Given the description of an element on the screen output the (x, y) to click on. 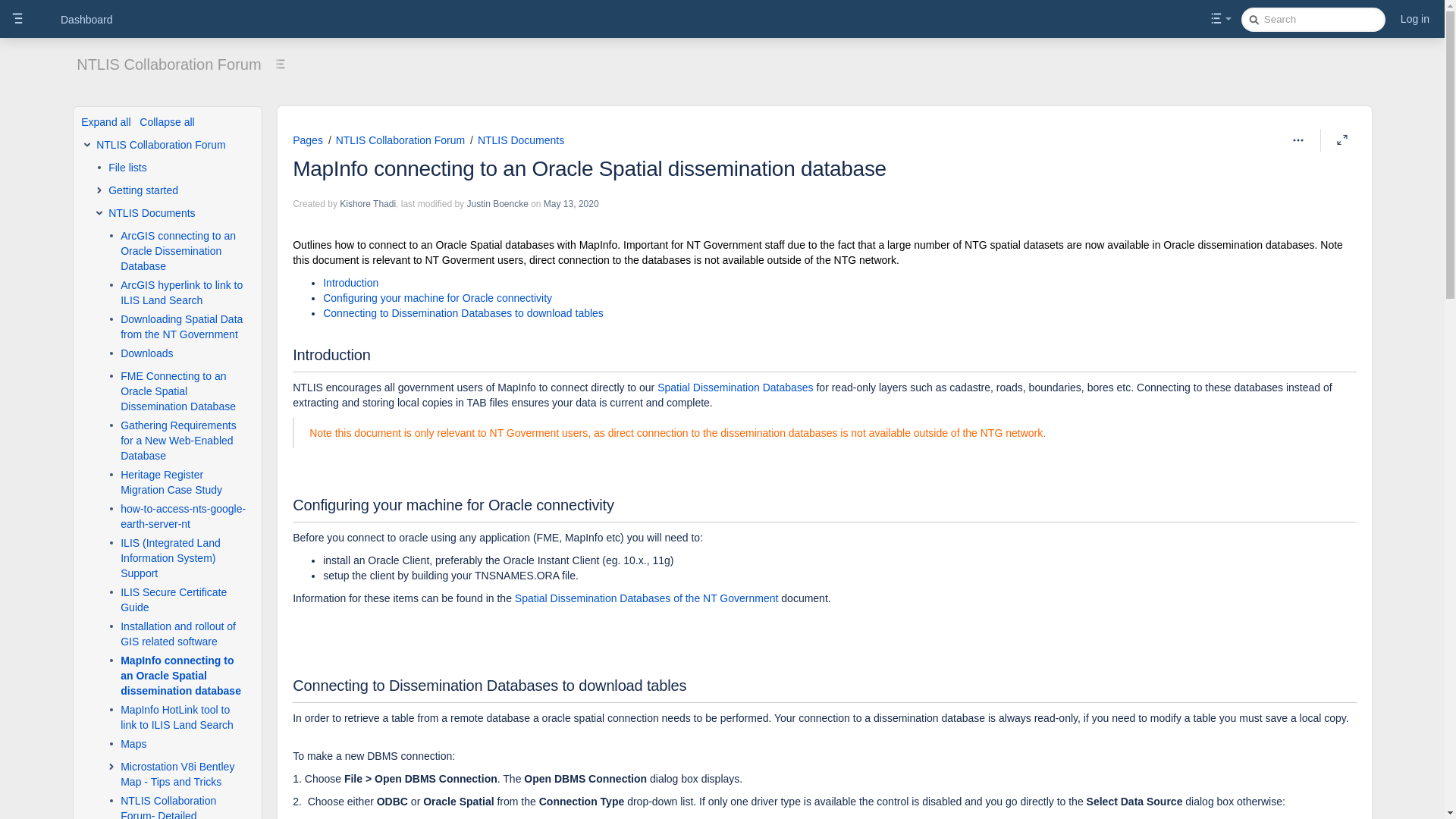
ILIS Secure Certificate Guide Element type: text (183, 599)
Pages Element type: text (307, 140)
Expand all Element type: text (105, 122)
NTLIS Documents Element type: text (520, 140)
Downloads Element type: text (146, 352)
NTLIS Documents Element type: text (151, 212)
ArcGIS hyperlink to link to ILIS Land Search Element type: text (183, 292)
Introduction Element type: text (350, 282)
Connecting to Dissemination Databases to download tables Element type: text (463, 313)
Maps Element type: text (133, 743)
Heritage Register Migration Case Study Element type: text (183, 482)
Skip to end of banner Element type: text (567, 128)
Open page in fullscreen ( Type 'F', shift + f ) Element type: hover (1341, 139)
ArcGIS connecting to an Oracle Dissemination Database Element type: text (183, 250)
May 13, 2020 Element type: text (571, 203)
how-to-access-nts-google-earth-server-nt Element type: text (183, 516)
Go to start of banner Element type: text (602, 128)
Kishore Thadi Element type: text (367, 203)
Log in Element type: text (1414, 18)
NTLIS Collaboration Forum Element type: text (160, 144)
MapInfo HotLink tool to link to ILIS Land Search Element type: text (183, 717)
NTLIS Collaboration Forum Element type: text (399, 140)
ILIS (Integrated Land Information System) Support Element type: text (183, 557)
Installation and rollout of GIS related software Element type: text (183, 633)
Collapse all Element type: text (166, 122)
NTLIS Collaboration Forum Element type: text (168, 64)
File lists Element type: text (127, 167)
Getting started Element type: text (143, 189)
Configuring your machine for Oracle connectivity Element type: text (437, 297)
Gathering Requirements for a New Web-Enabled Database Element type: text (183, 440)
Spatial Dissemination Databases Element type: text (734, 387)
Microstation V8i Bentley Map - Tips and Tricks Element type: text (183, 774)
Justin Boencke Element type: text (496, 203)
Dashboard Element type: text (86, 19)
FME Connecting to an Oracle Spatial Dissemination Database Element type: text (183, 391)
Downloading Spatial Data from the NT Government Element type: text (183, 326)
Spatial Dissemination Databases of the NT Government Element type: text (646, 598)
Show ( Type 'p' ) Element type: hover (1220, 18)
